Given the description of an element on the screen output the (x, y) to click on. 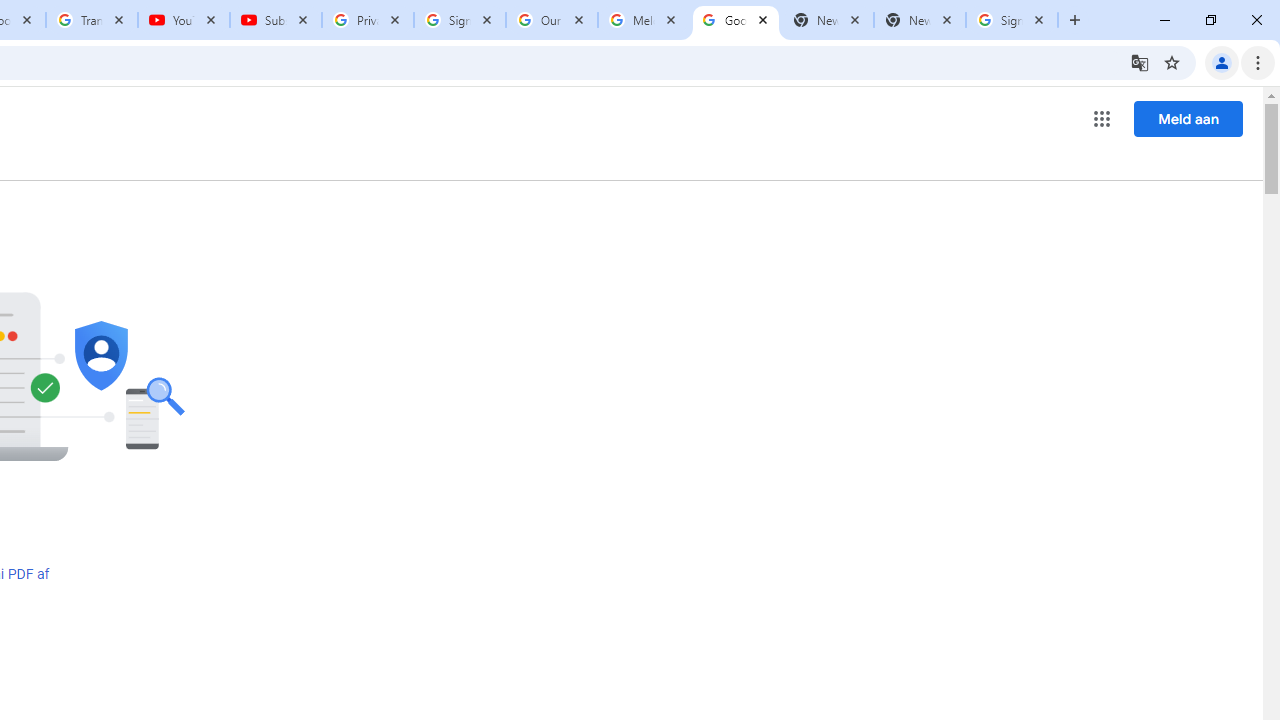
Google-programme (1101, 118)
Sign in - Google Accounts (459, 20)
